Given the description of an element on the screen output the (x, y) to click on. 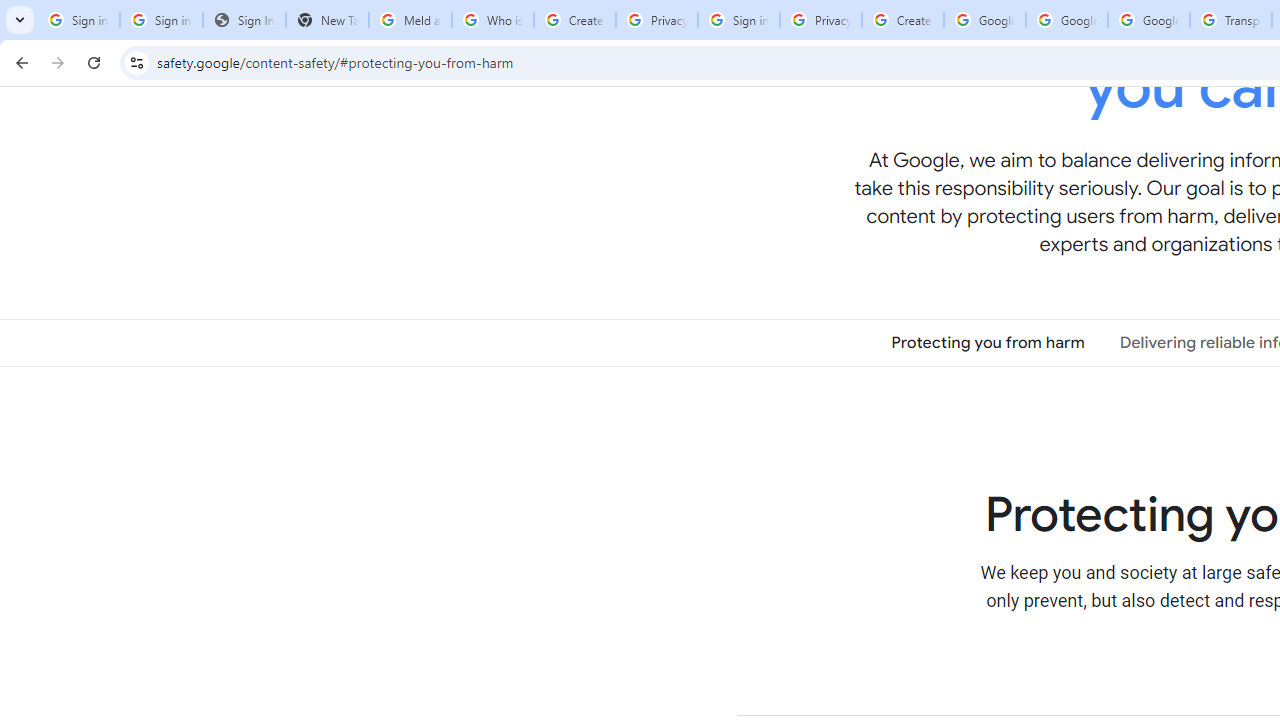
Sign in - Google Accounts (161, 20)
Google Account (1149, 20)
Sign in - Google Accounts (738, 20)
Protecting you from harm (987, 343)
Create your Google Account (902, 20)
